Given the description of an element on the screen output the (x, y) to click on. 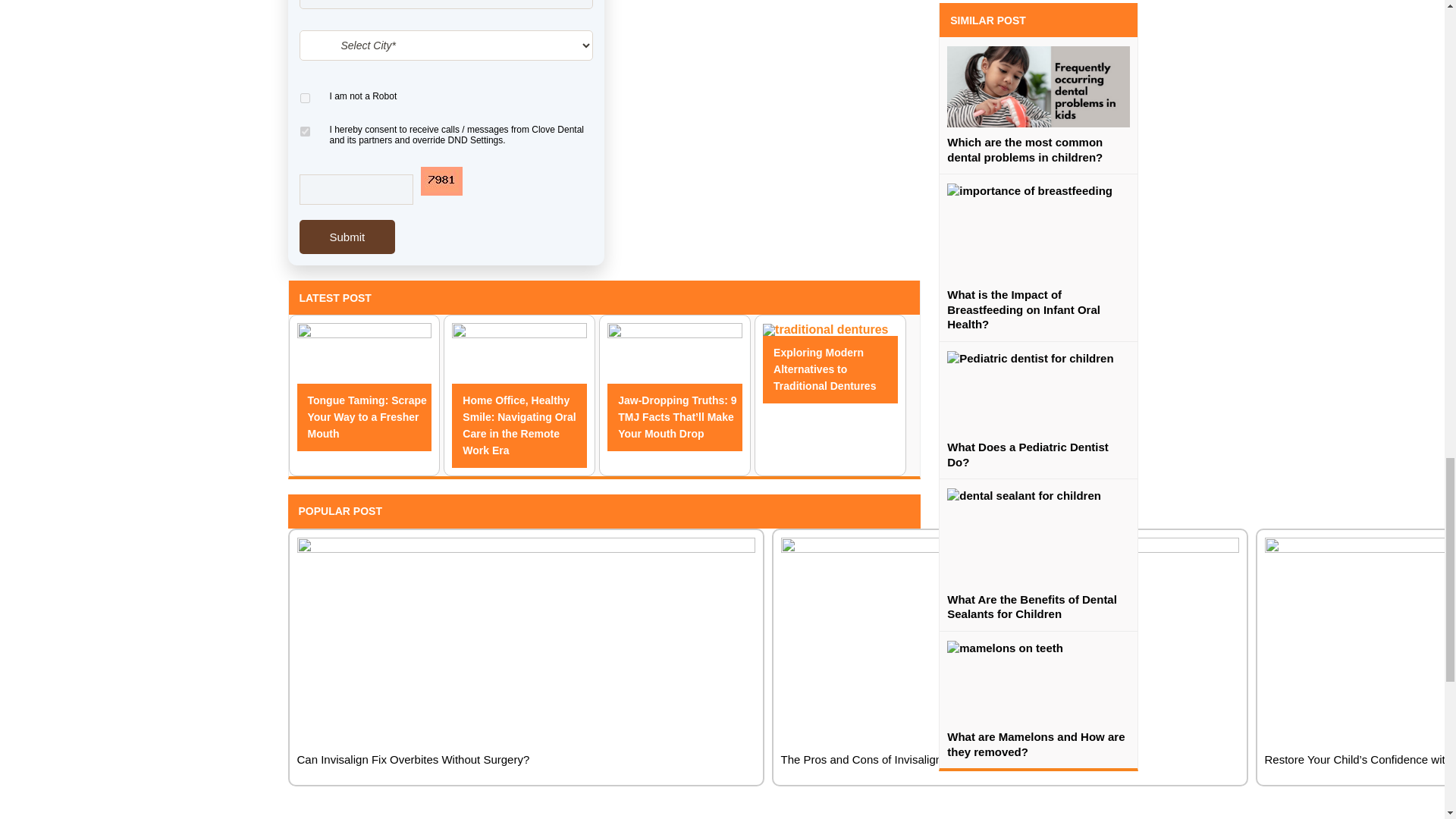
Y (304, 98)
Y (304, 131)
